Given the description of an element on the screen output the (x, y) to click on. 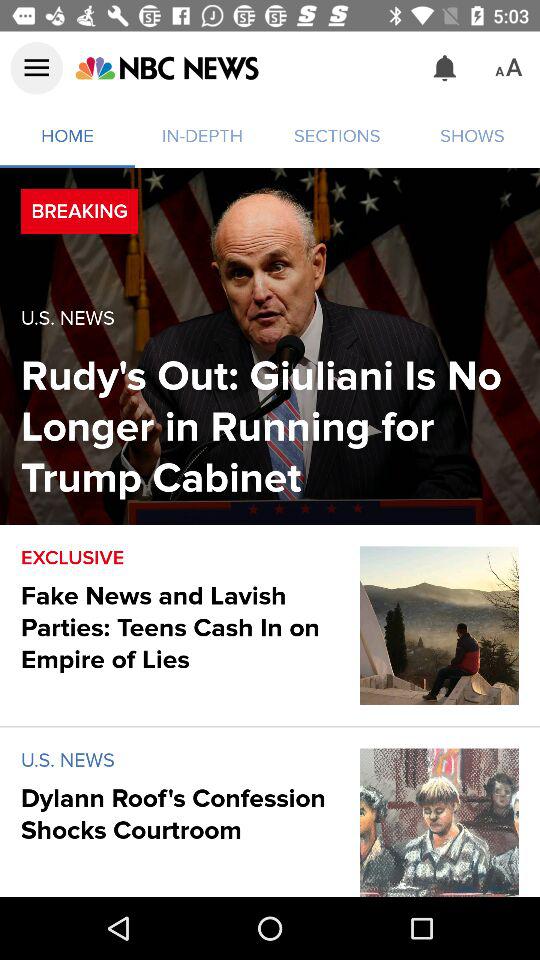
select the item next to the sections item (444, 67)
